Given the description of an element on the screen output the (x, y) to click on. 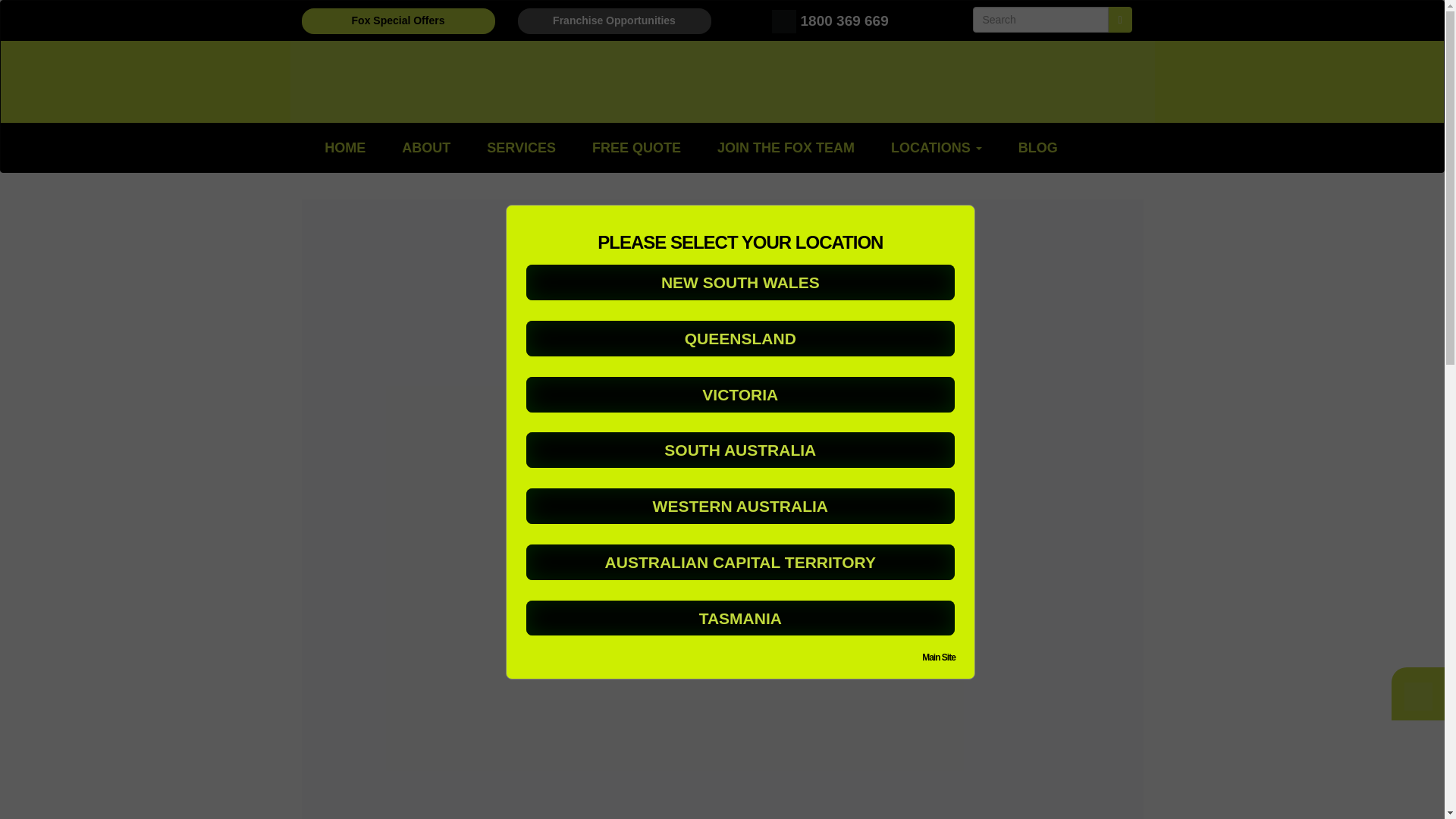
JOIN THE FOX TEAM (785, 147)
FREE QUOTE (635, 147)
SERVICES (520, 147)
ABOUT (426, 147)
Blog (1037, 147)
About (426, 147)
BLOG (1037, 147)
Home (344, 147)
SERVICES (520, 147)
FREE QUOTE (635, 147)
Locations (936, 147)
Fox Special Offers (398, 21)
HOME (344, 147)
LOCATIONS (936, 147)
JOIN THE FOX TEAM (785, 147)
